Given the description of an element on the screen output the (x, y) to click on. 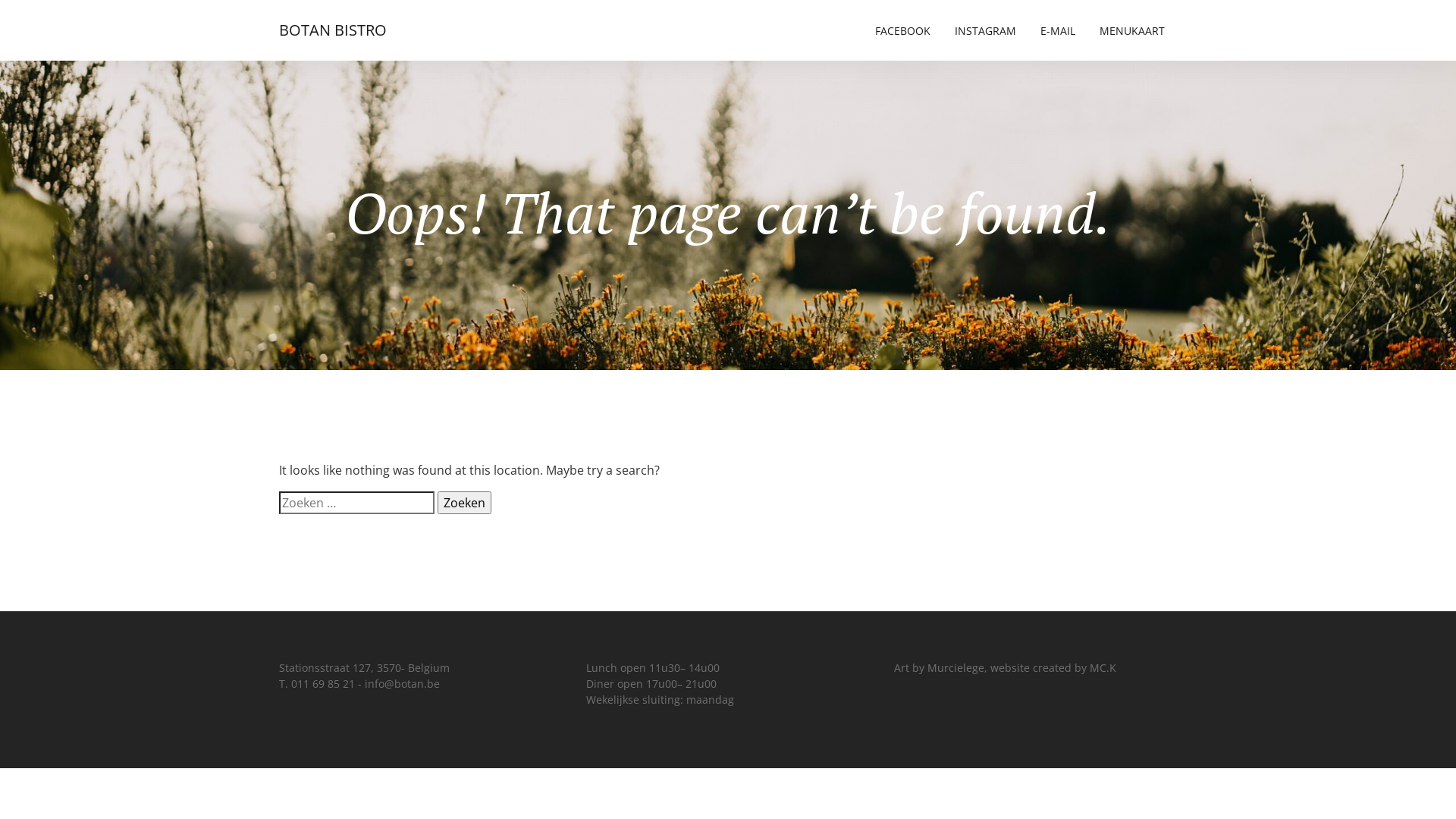
BOTAN BISTRO Element type: text (332, 30)
FACEBOOK Element type: text (902, 30)
E-MAIL Element type: text (1057, 30)
Zoeken Element type: text (464, 502)
INSTAGRAM Element type: text (985, 30)
MENUKAART Element type: text (1131, 30)
